Given the description of an element on the screen output the (x, y) to click on. 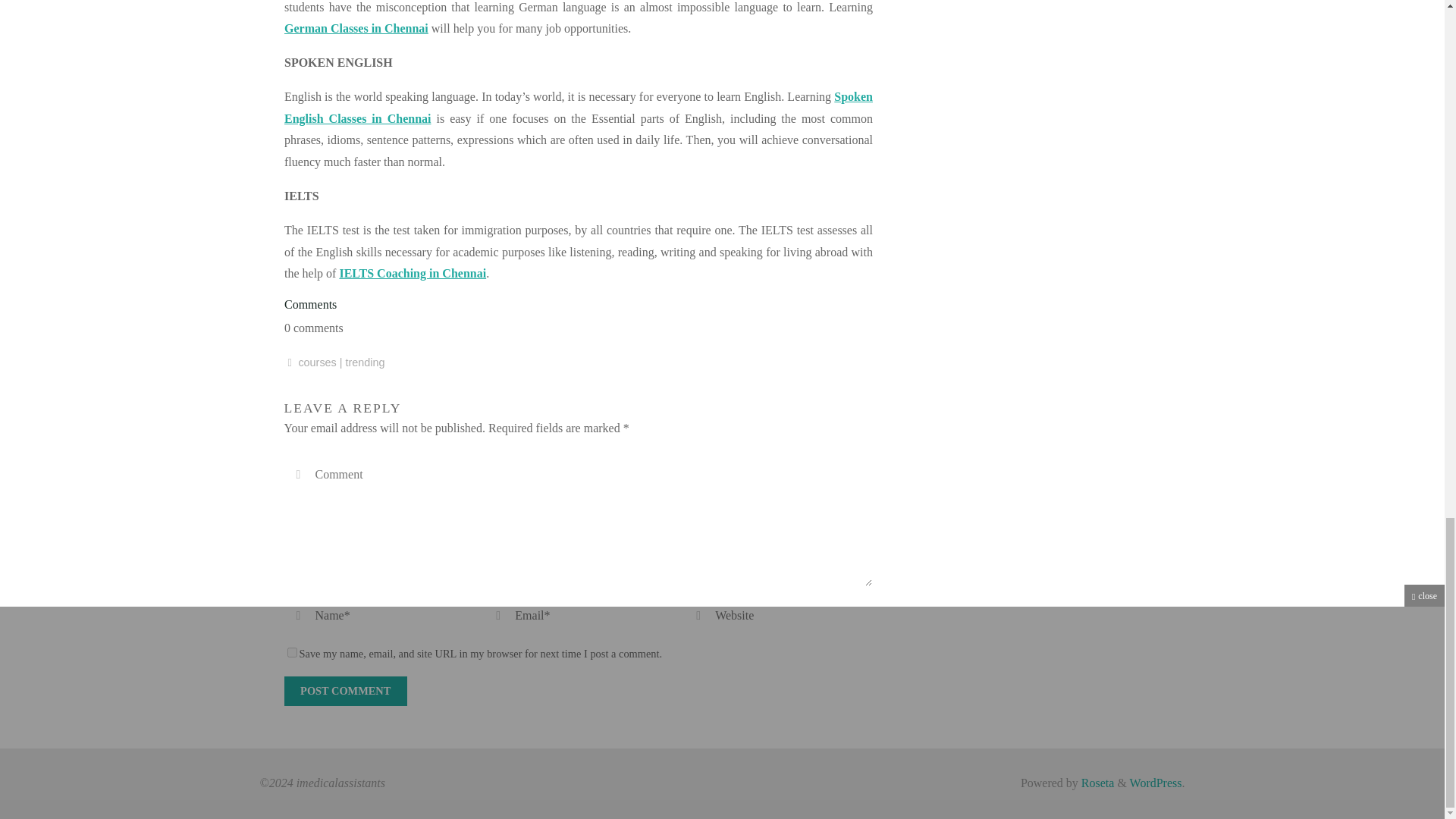
Semantic Personal Publishing Platform (1155, 782)
yes (291, 652)
Roseta WordPress Theme by Cryout Creations (1096, 782)
Post Comment (344, 690)
